Given the description of an element on the screen output the (x, y) to click on. 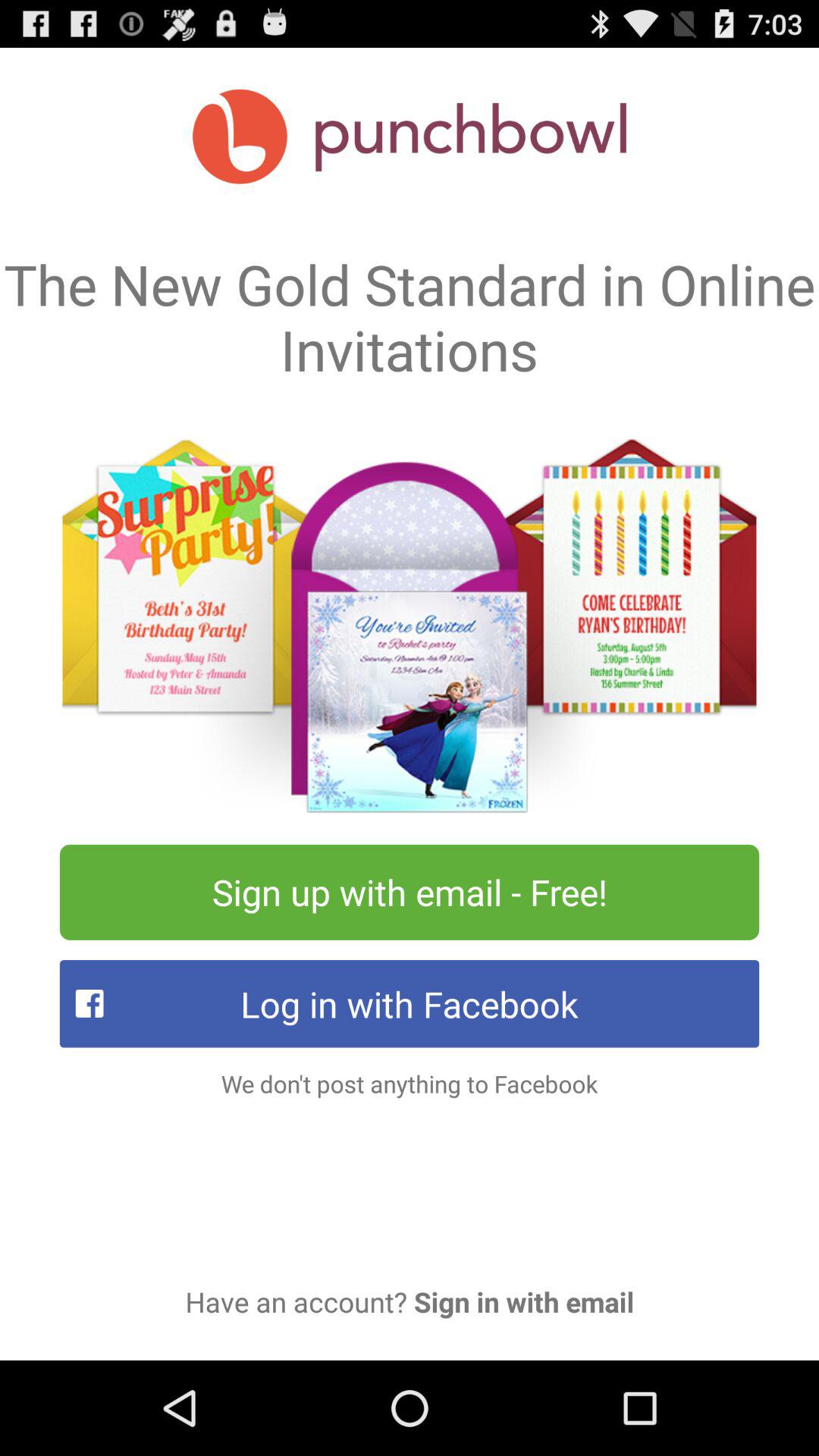
turn on icon below we don t (409, 1301)
